Given the description of an element on the screen output the (x, y) to click on. 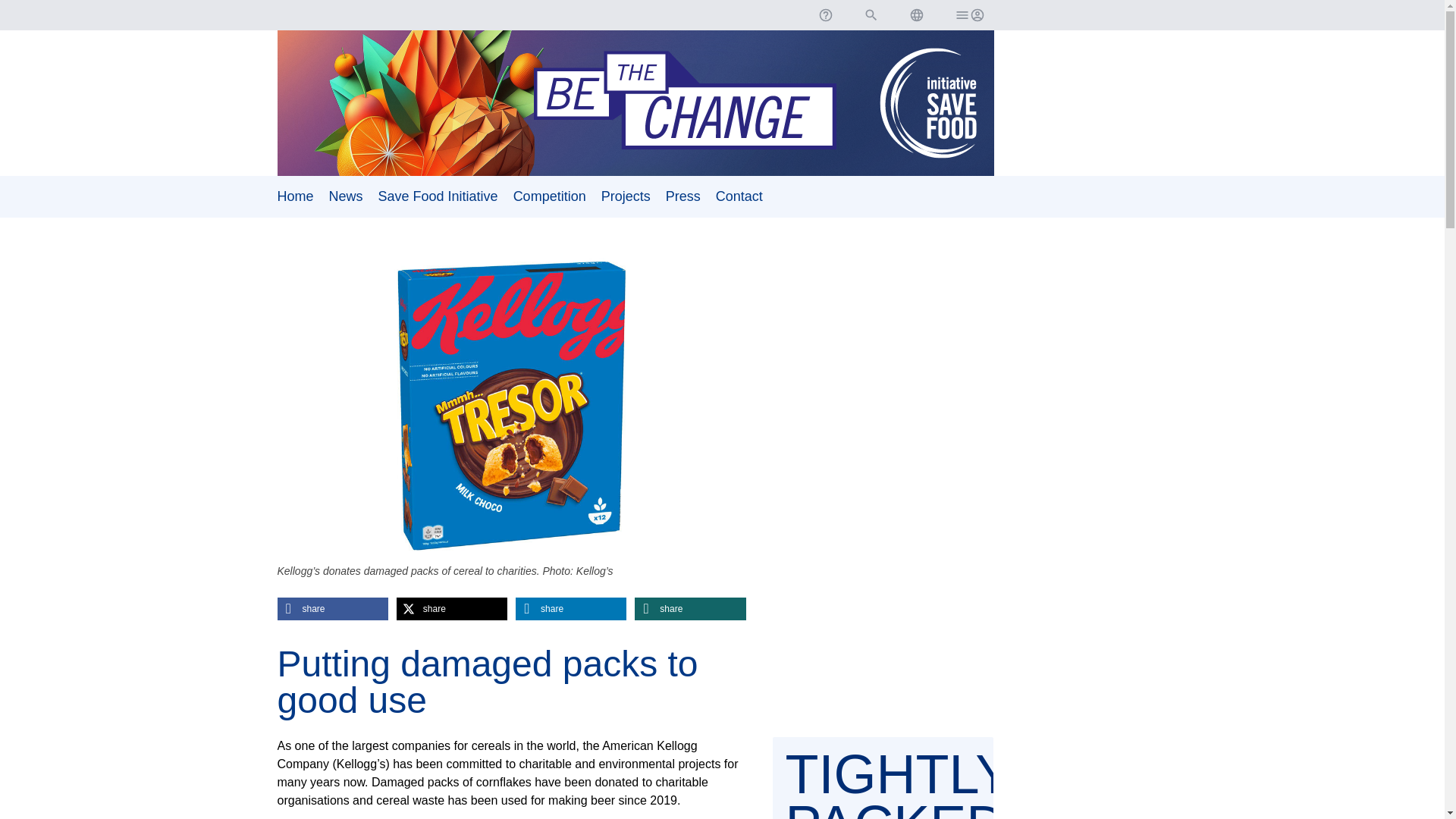
ENGLISH (915, 14)
Search (870, 14)
Login (968, 14)
Support (824, 14)
